Given the description of an element on the screen output the (x, y) to click on. 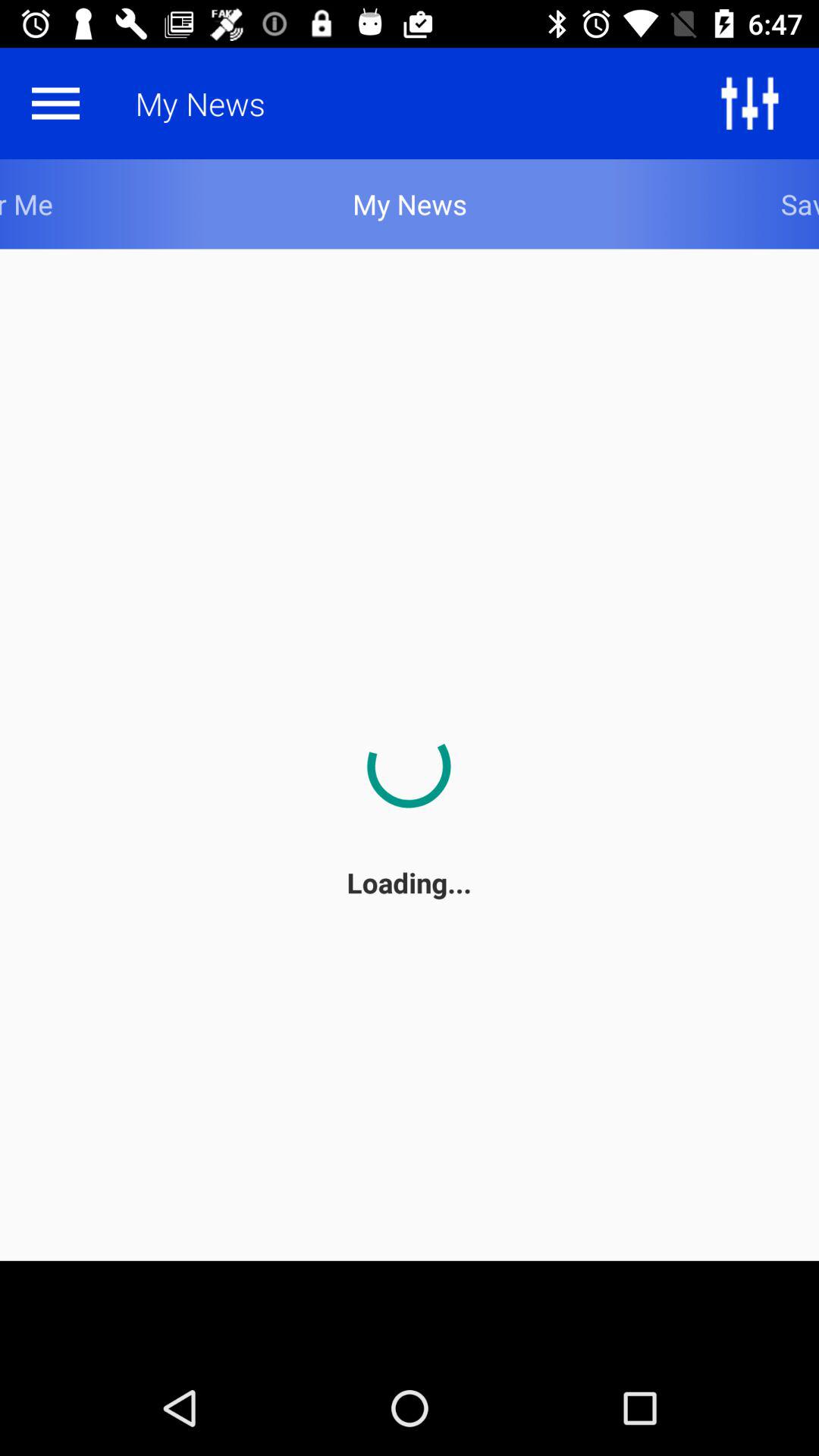
click for menu options (55, 103)
